Given the description of an element on the screen output the (x, y) to click on. 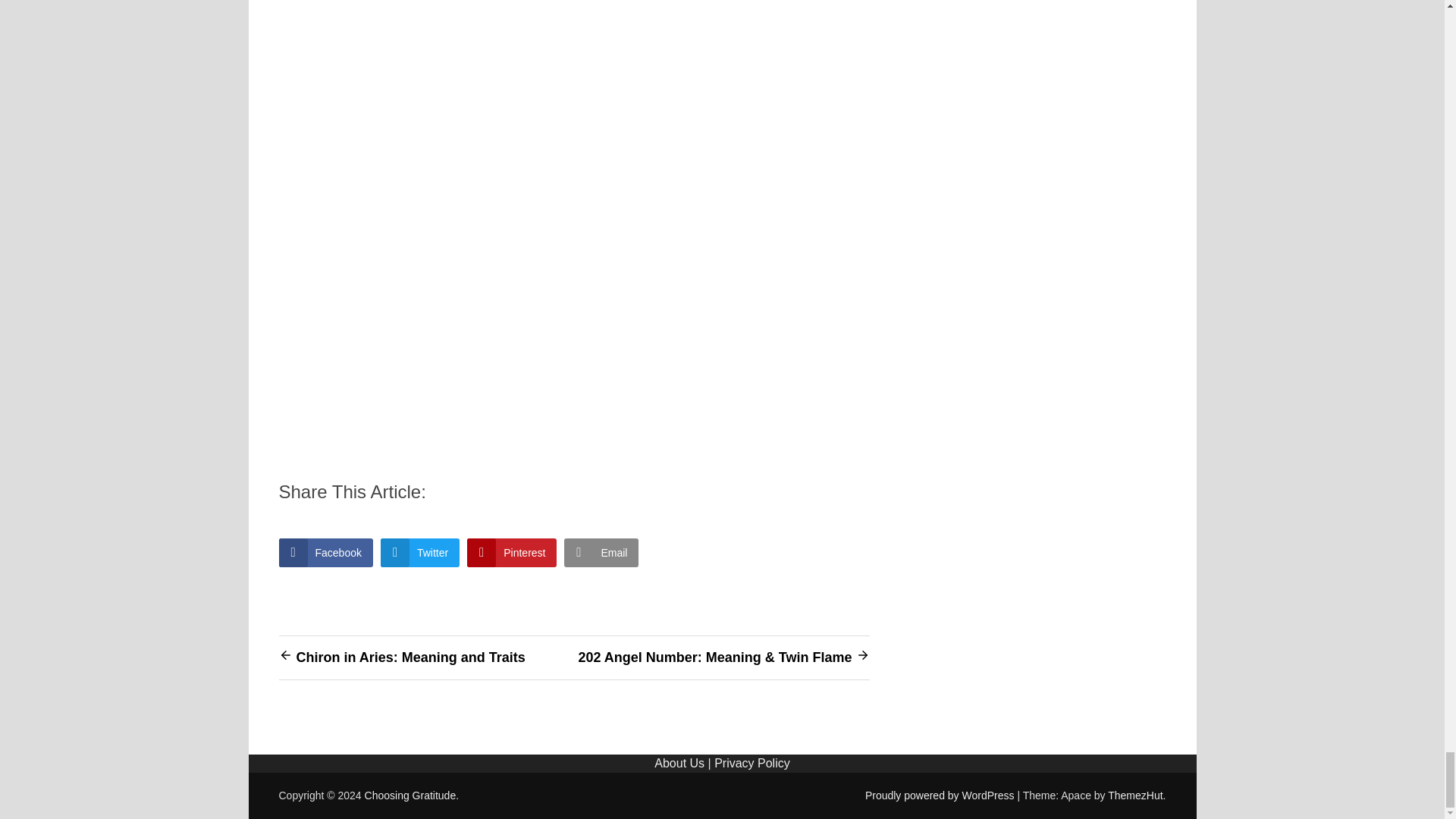
Proudly powered by WordPress (940, 795)
About Us (678, 762)
Email (601, 552)
Facebook (325, 552)
Chiron in Aries: Meaning and Traits (409, 657)
ThemezHut (1134, 795)
Twitter (420, 552)
Choosing Gratitude (411, 795)
Privacy Policy (752, 762)
Pinterest (511, 552)
